Given the description of an element on the screen output the (x, y) to click on. 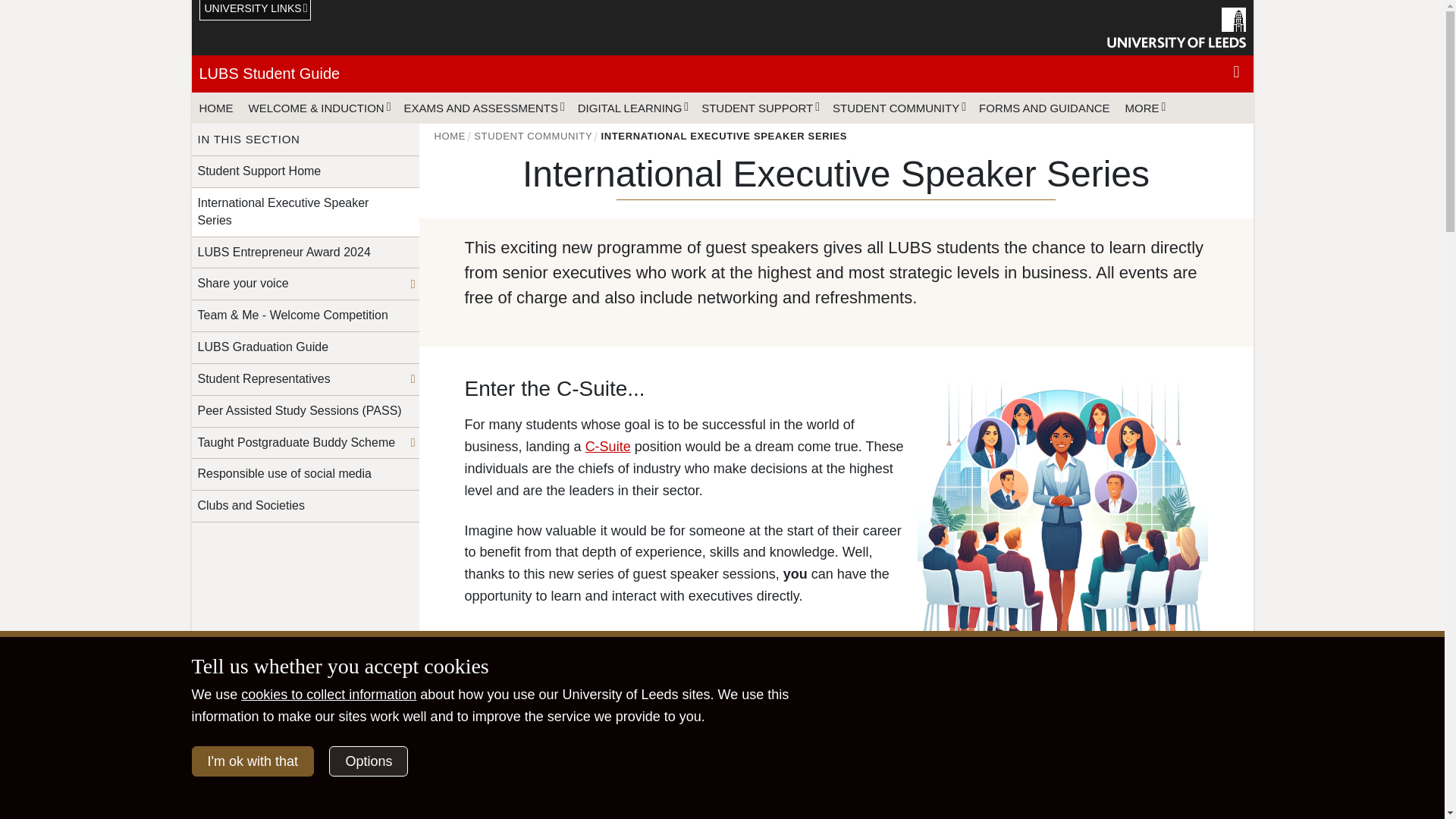
LUBS Student Guide (268, 73)
UNIVERSITY LINKS (254, 10)
University of Leeds home page (1176, 26)
